Given the description of an element on the screen output the (x, y) to click on. 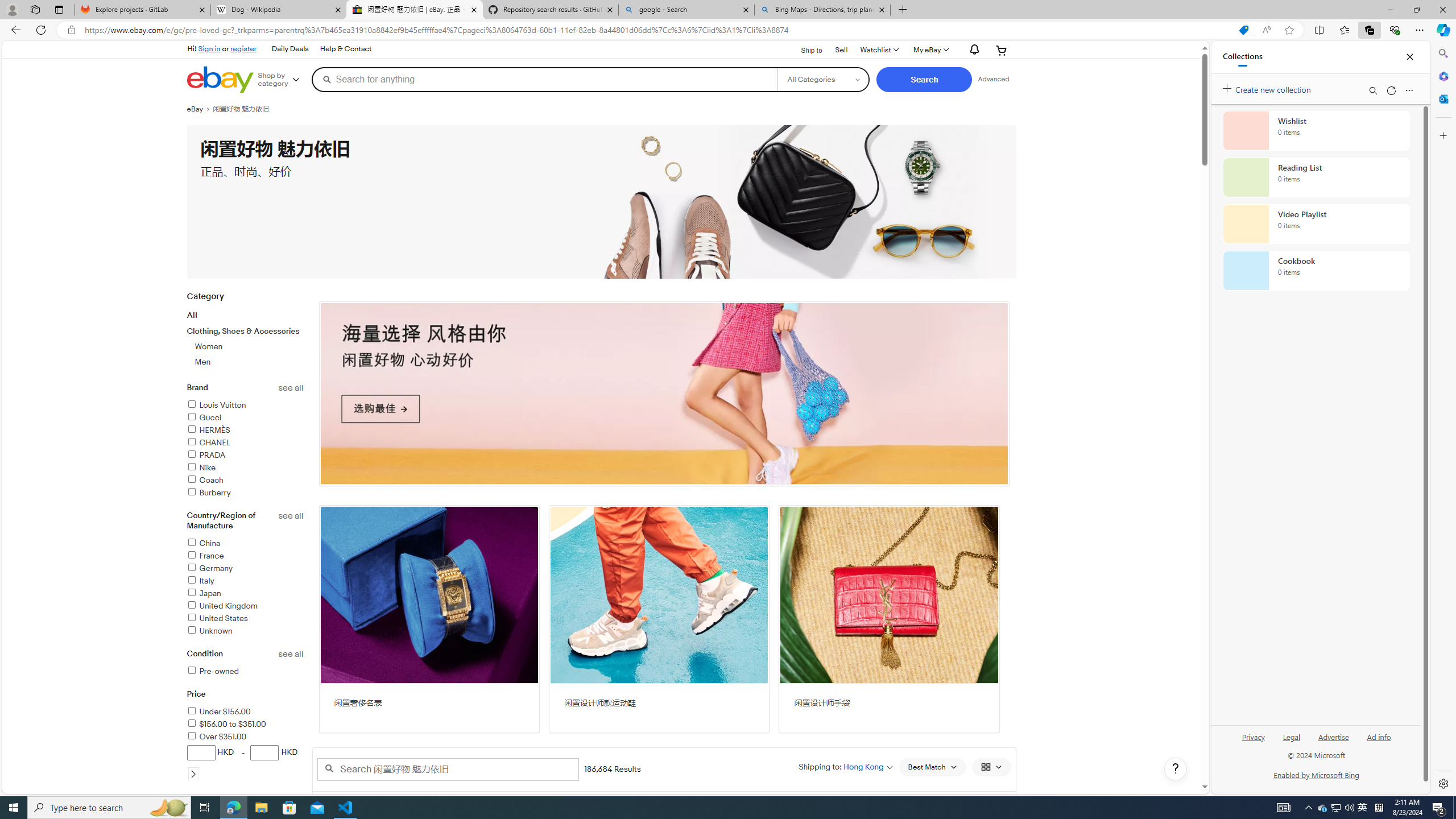
Wishlist collection, 0 items (1316, 130)
Under $156.00 (218, 711)
PRADA (205, 455)
More options menu (1409, 90)
Sort: Best Match (932, 766)
France (205, 556)
Pre-owned (212, 671)
View: Gallery View (991, 766)
